Given the description of an element on the screen output the (x, y) to click on. 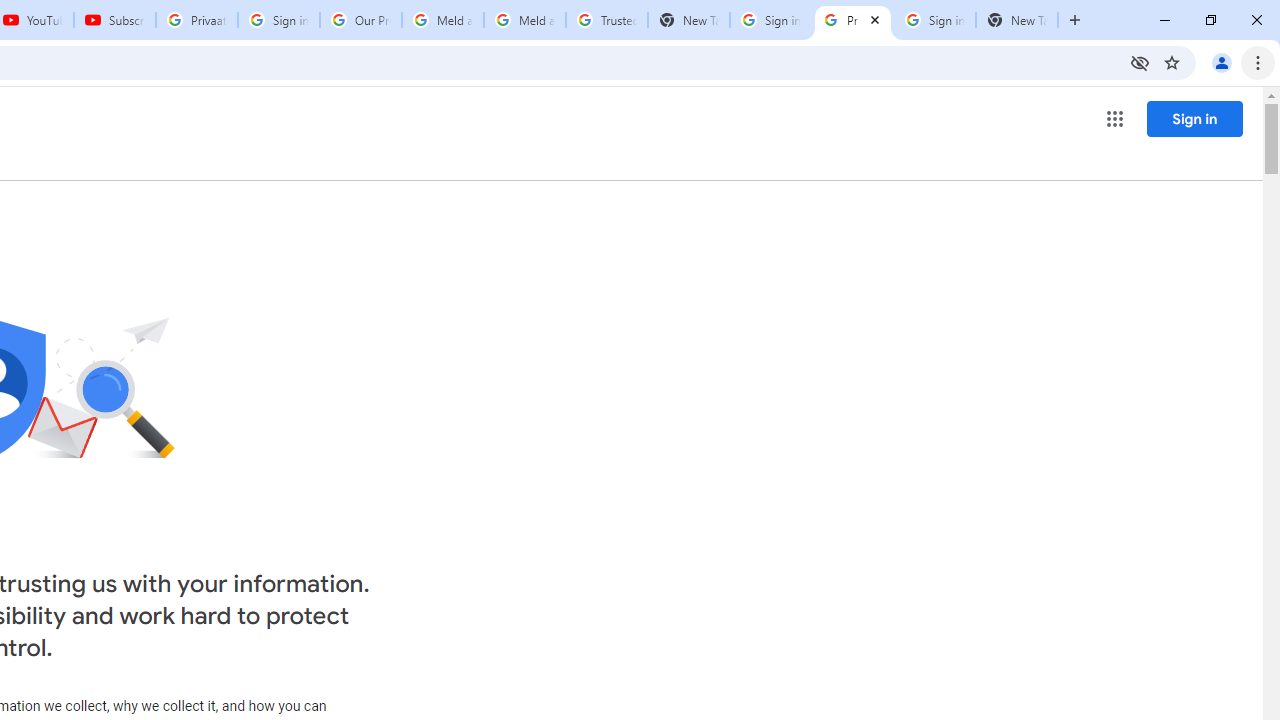
Sign in - Google Accounts (934, 20)
Sign in - Google Accounts (278, 20)
New Tab (1016, 20)
New Tab (688, 20)
